Given the description of an element on the screen output the (x, y) to click on. 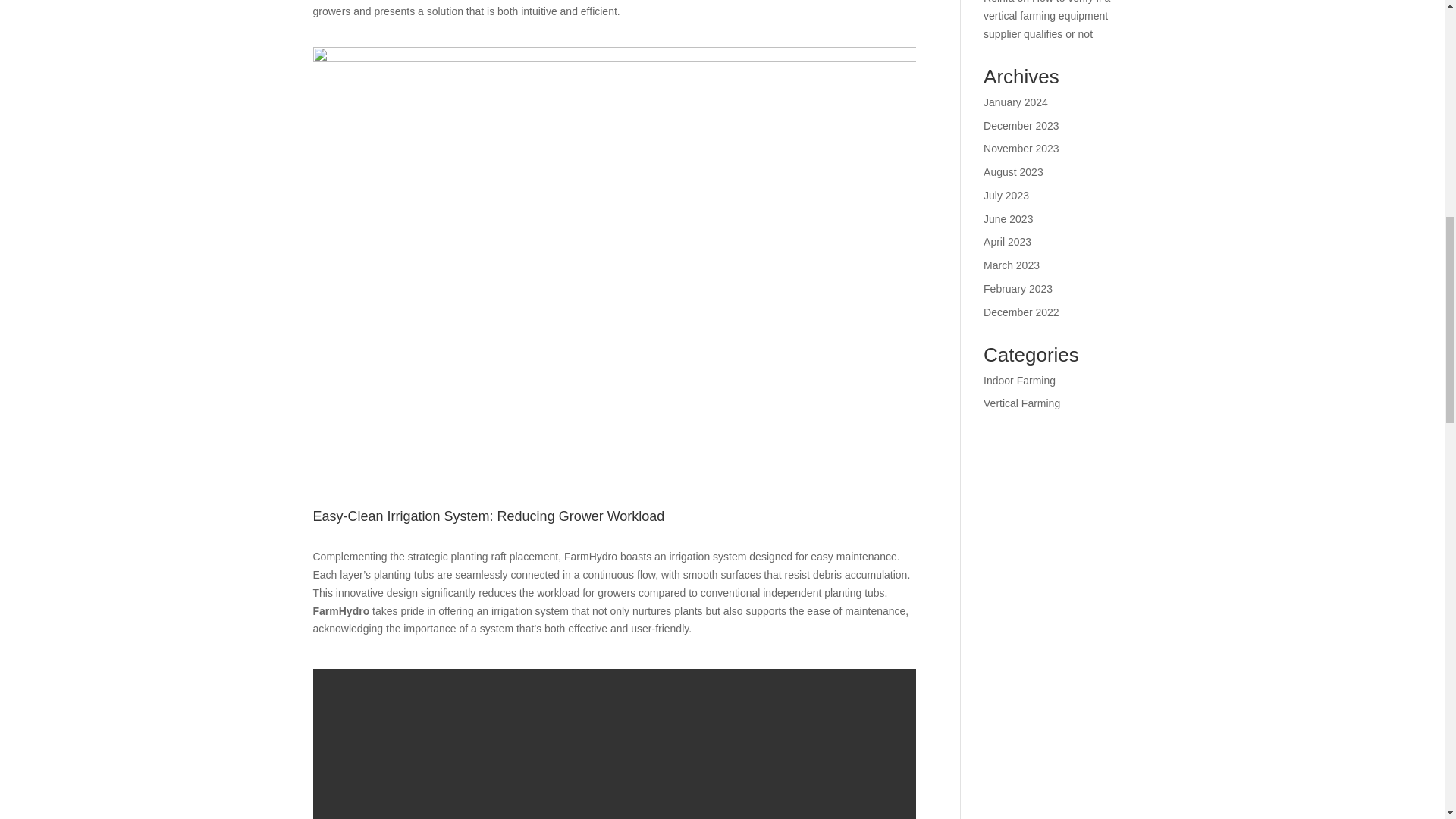
March 2023 (1011, 265)
June 2023 (1008, 218)
Reinfa (998, 2)
August 2023 (1013, 172)
November 2023 (1021, 148)
July 2023 (1006, 195)
January 2024 (1016, 102)
April 2023 (1007, 241)
